Given the description of an element on the screen output the (x, y) to click on. 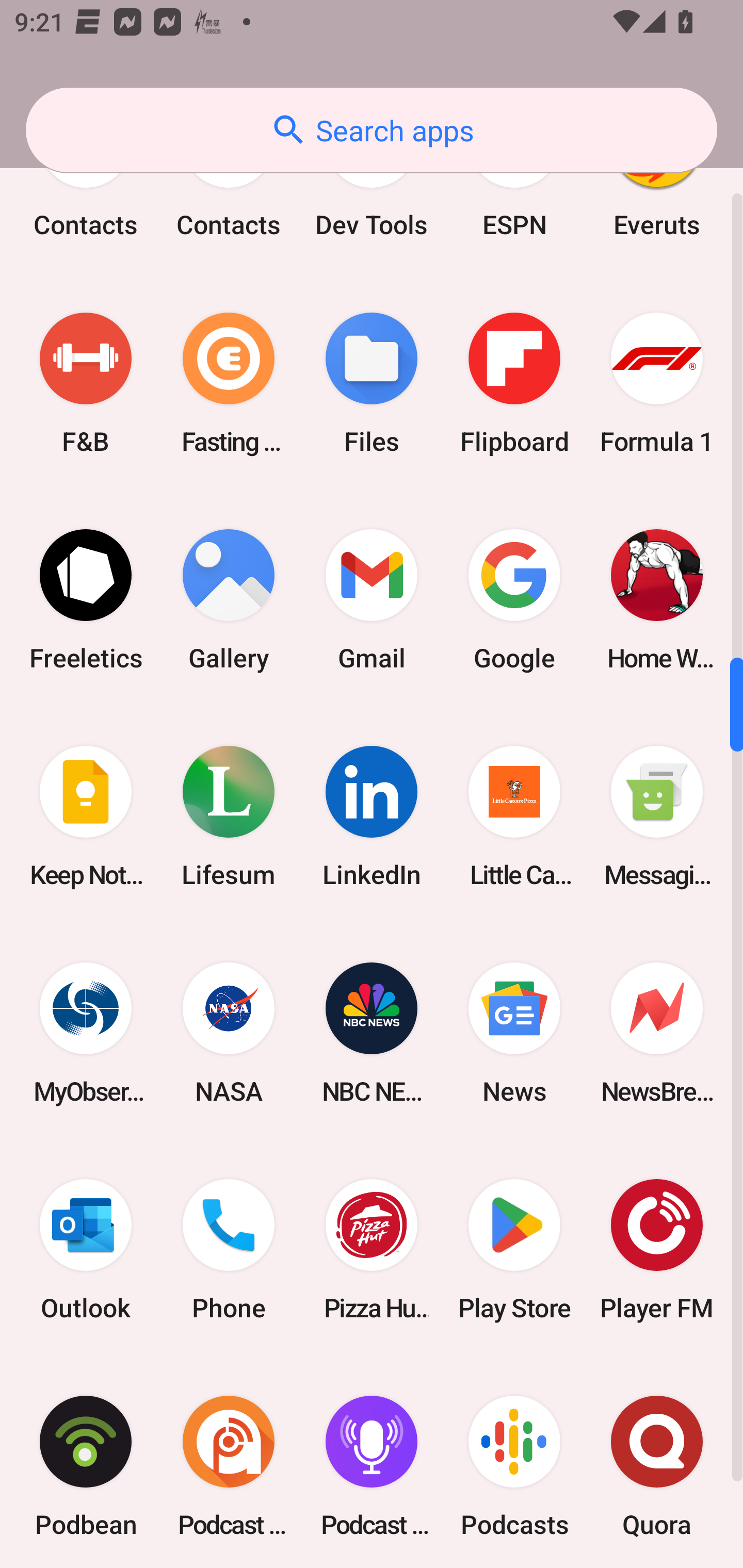
  Search apps (371, 130)
F&B (85, 382)
Fasting Coach (228, 382)
Files (371, 382)
Flipboard (514, 382)
Formula 1 (656, 382)
Freeletics (85, 599)
Gallery (228, 599)
Gmail (371, 599)
Google (514, 599)
Home Workout (656, 599)
Keep Notes (85, 816)
Lifesum (228, 816)
LinkedIn (371, 816)
Little Caesars Pizza (514, 816)
Messaging (656, 816)
MyObservatory (85, 1033)
NASA (228, 1033)
NBC NEWS (371, 1033)
News (514, 1033)
NewsBreak (656, 1033)
Outlook (85, 1249)
Phone (228, 1249)
Pizza Hut HK & Macau (371, 1249)
Play Store (514, 1249)
Player FM (656, 1249)
Podbean (85, 1462)
Podcast Addict (228, 1462)
Podcast Player (371, 1462)
Podcasts (514, 1462)
Quora (656, 1462)
